Given the description of an element on the screen output the (x, y) to click on. 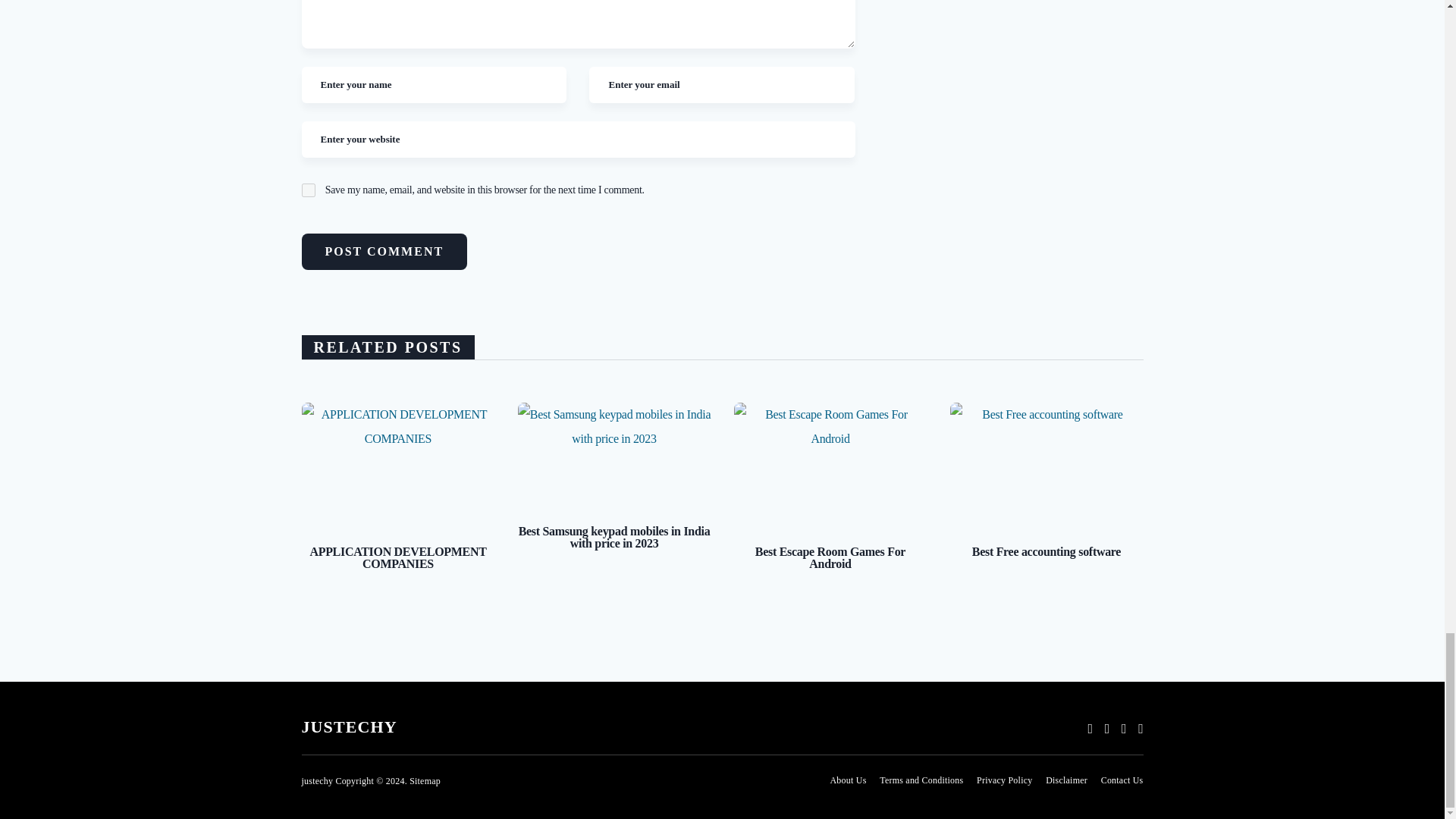
yes (308, 190)
Post Comment (384, 251)
Post Comment (384, 251)
APPLICATION DEVELOPMENT COMPANIES (398, 463)
APPLICATION DEVELOPMENT COMPANIES (398, 558)
Best Samsung keypad mobiles in India with price in 2023 (613, 453)
